Given the description of an element on the screen output the (x, y) to click on. 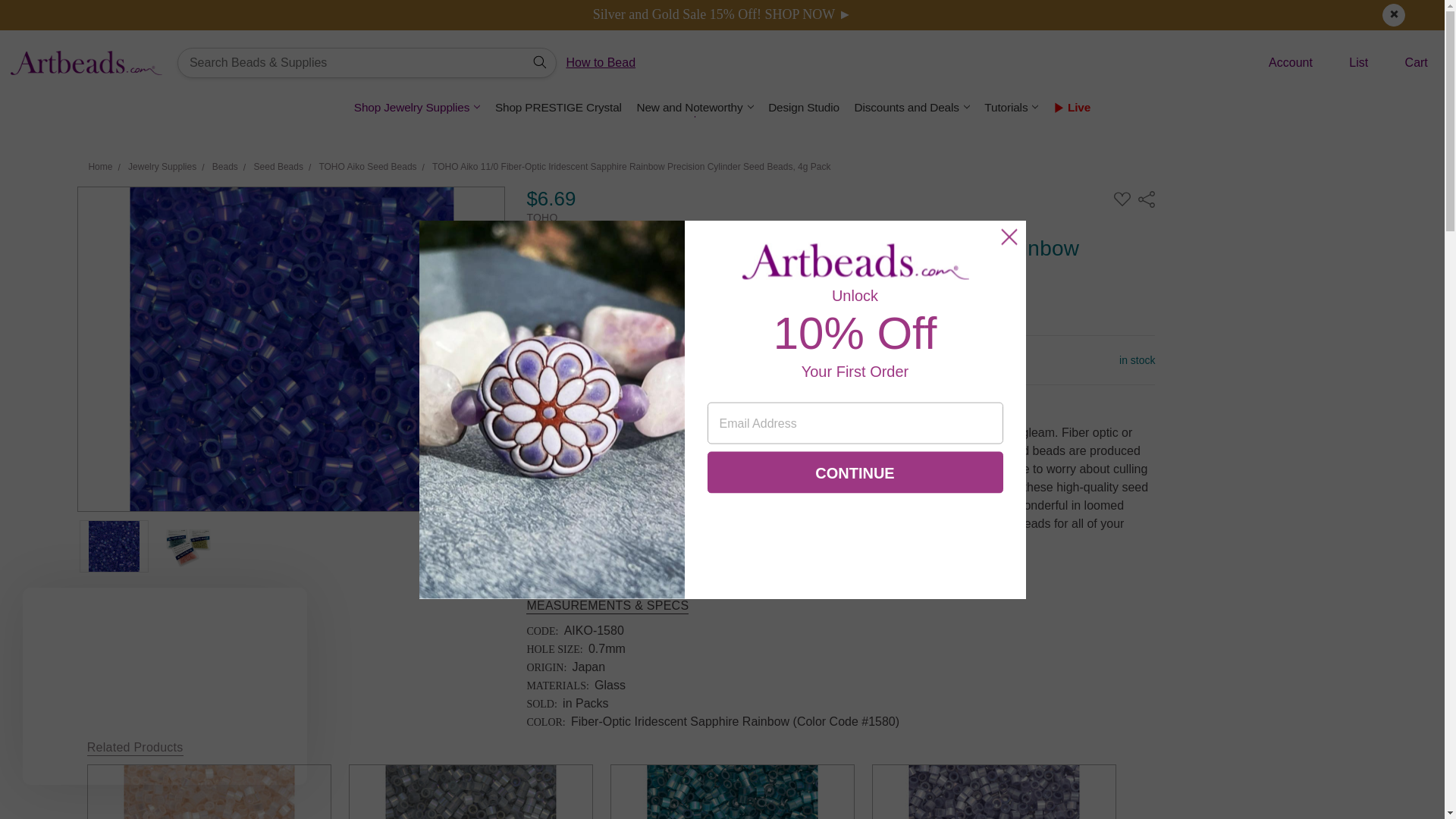
1 (631, 359)
How to Bead (600, 62)
Smile.io Rewards Program Launcher (78, 761)
Account (1279, 62)
Add to Cart (751, 359)
New and Noteworthy (694, 107)
Shop PRESTIGE Crystal (557, 107)
Artbeads.com (85, 62)
Smile.io Rewards Program Prompt (165, 686)
Cart (1404, 62)
List (1346, 62)
Shop Jewelry Supplies (416, 107)
